Given the description of an element on the screen output the (x, y) to click on. 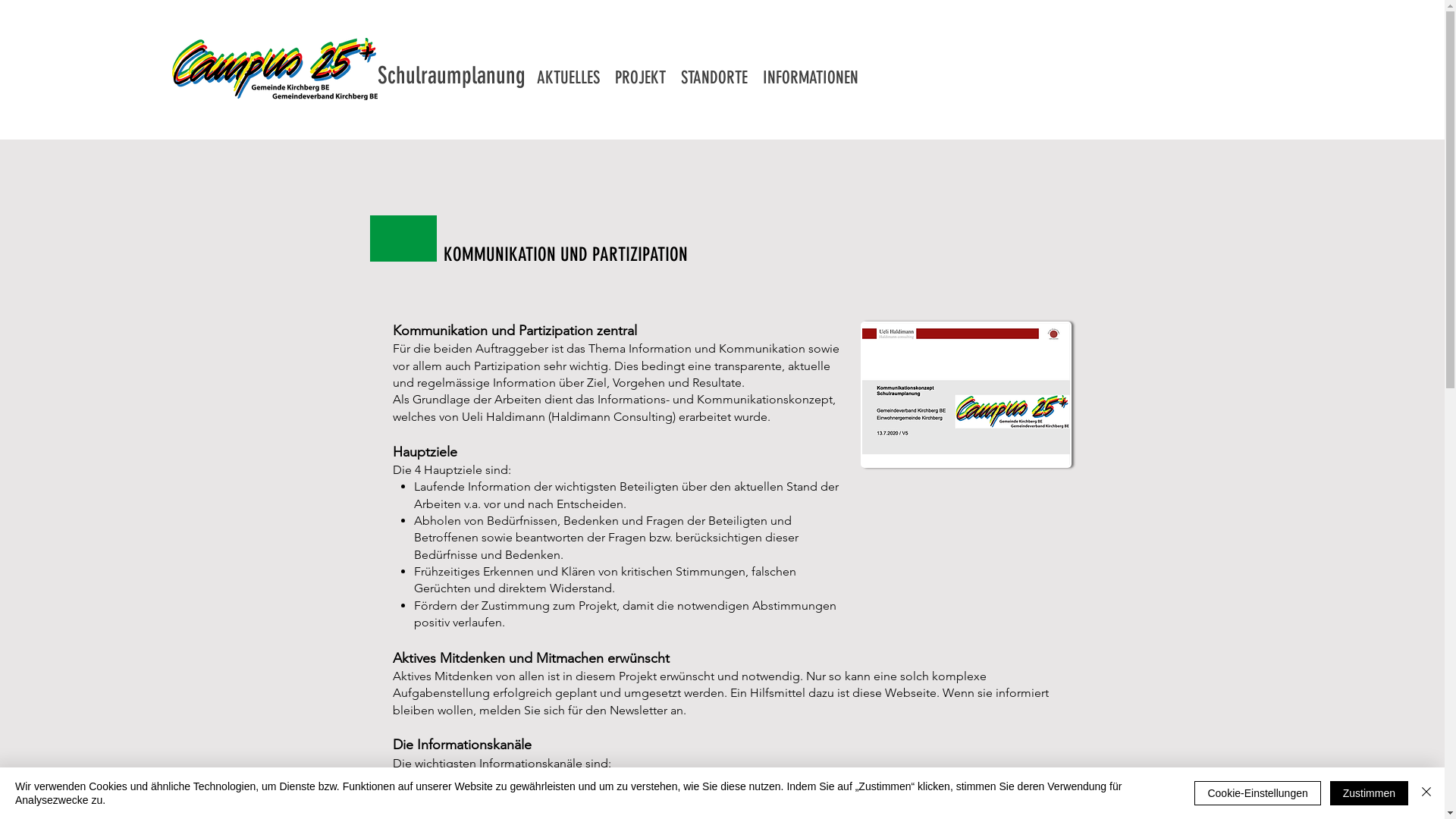
INFORMATIONEN Element type: text (810, 77)
PROJEKT Element type: text (639, 77)
STANDORTE Element type: text (714, 77)
Zustimmen Element type: text (1369, 793)
AKTUELLES Element type: text (568, 77)
Cookie-Einstellungen Element type: text (1257, 793)
